Given the description of an element on the screen output the (x, y) to click on. 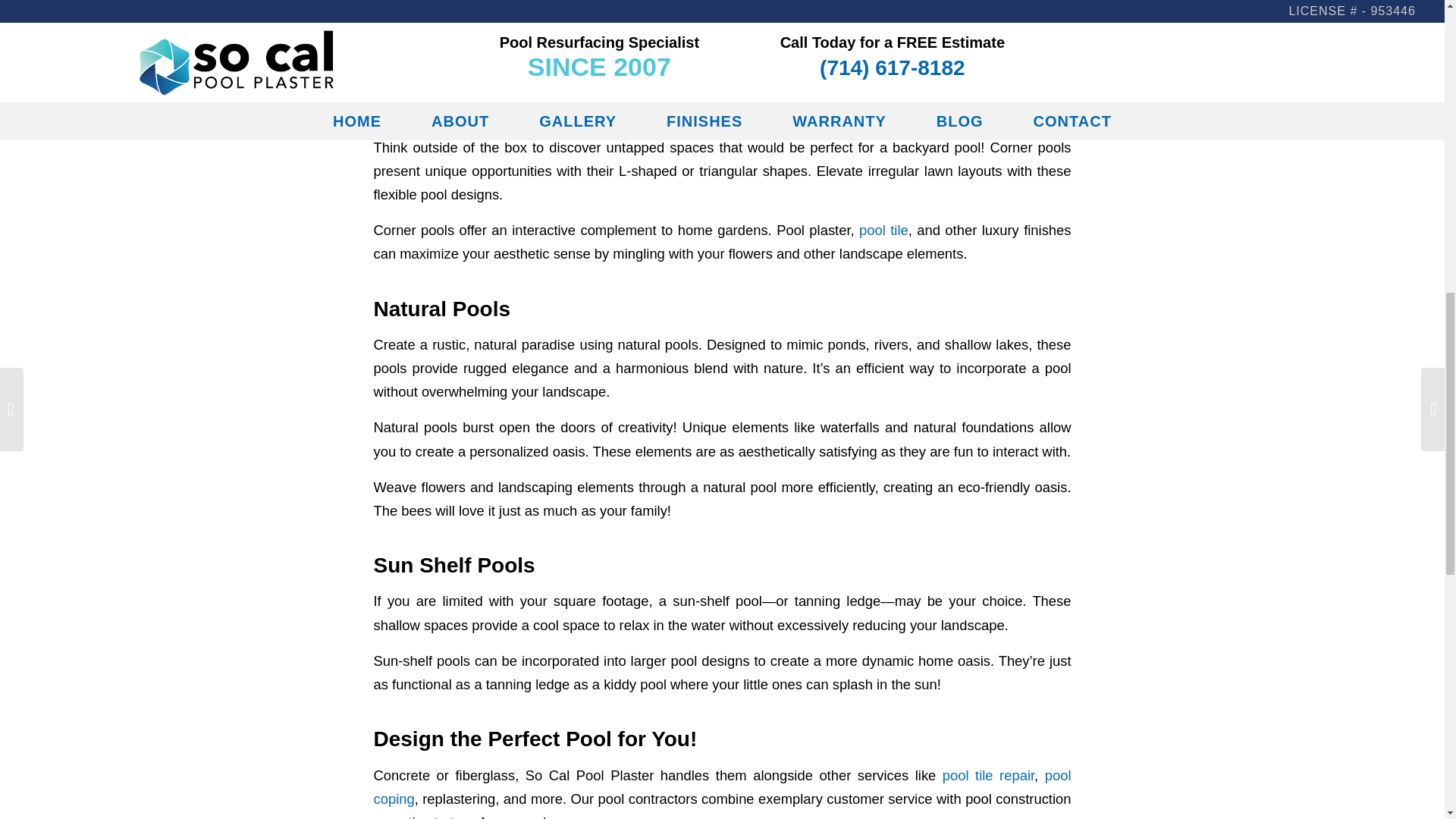
pool coping (721, 786)
pool tile (883, 229)
pool finishes (410, 2)
pool tile repair (987, 774)
